Given the description of an element on the screen output the (x, y) to click on. 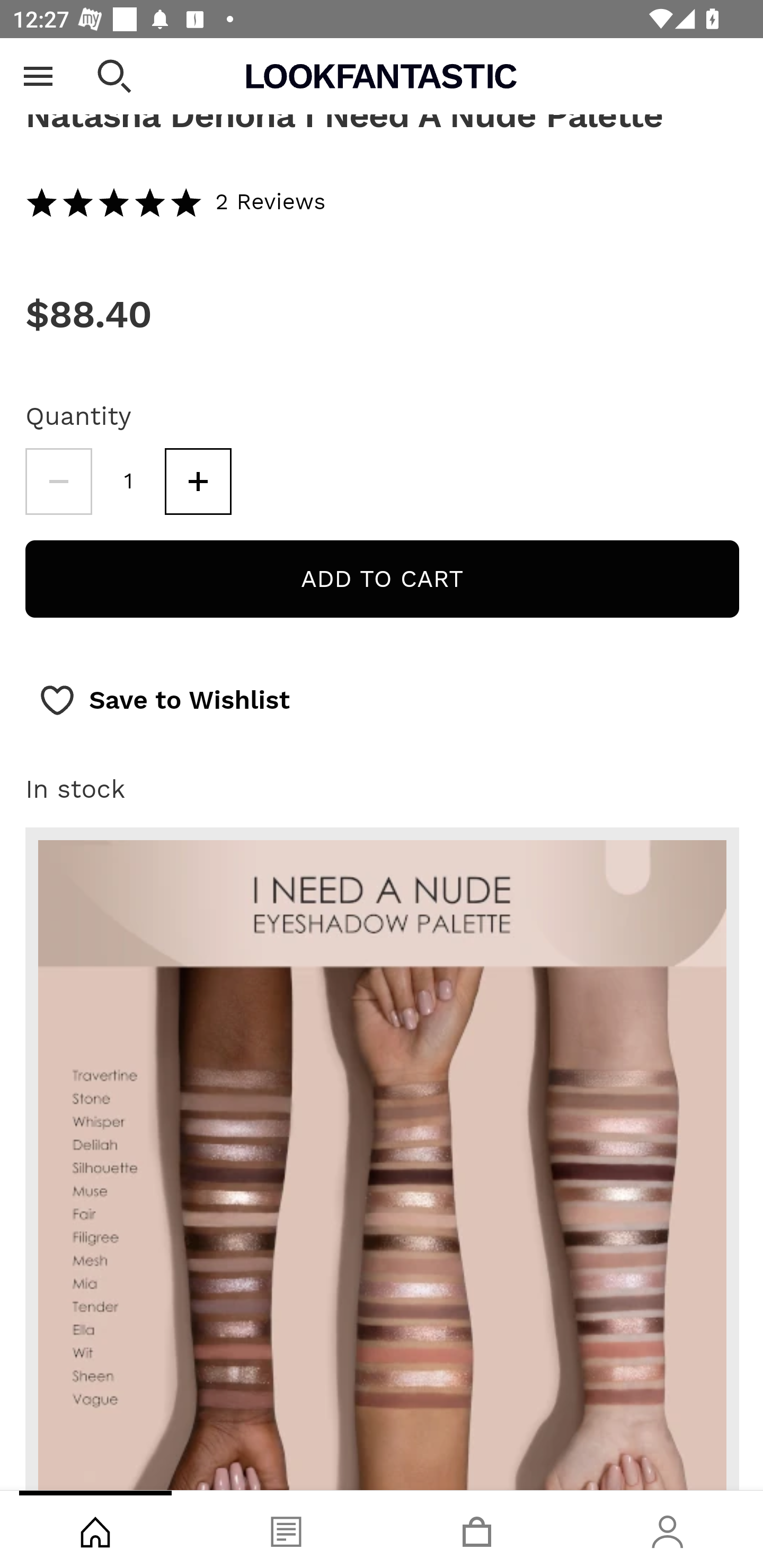
Decrease quantity (58, 481)
1, Quantity (128, 481)
Increase quantity (197, 481)
Add to cart (382, 579)
Save to Wishlist (164, 701)
Shop, tab, 1 of 4 (95, 1529)
Blog, tab, 2 of 4 (285, 1529)
Basket, tab, 3 of 4 (476, 1529)
Account, tab, 4 of 4 (667, 1529)
